Given the description of an element on the screen output the (x, y) to click on. 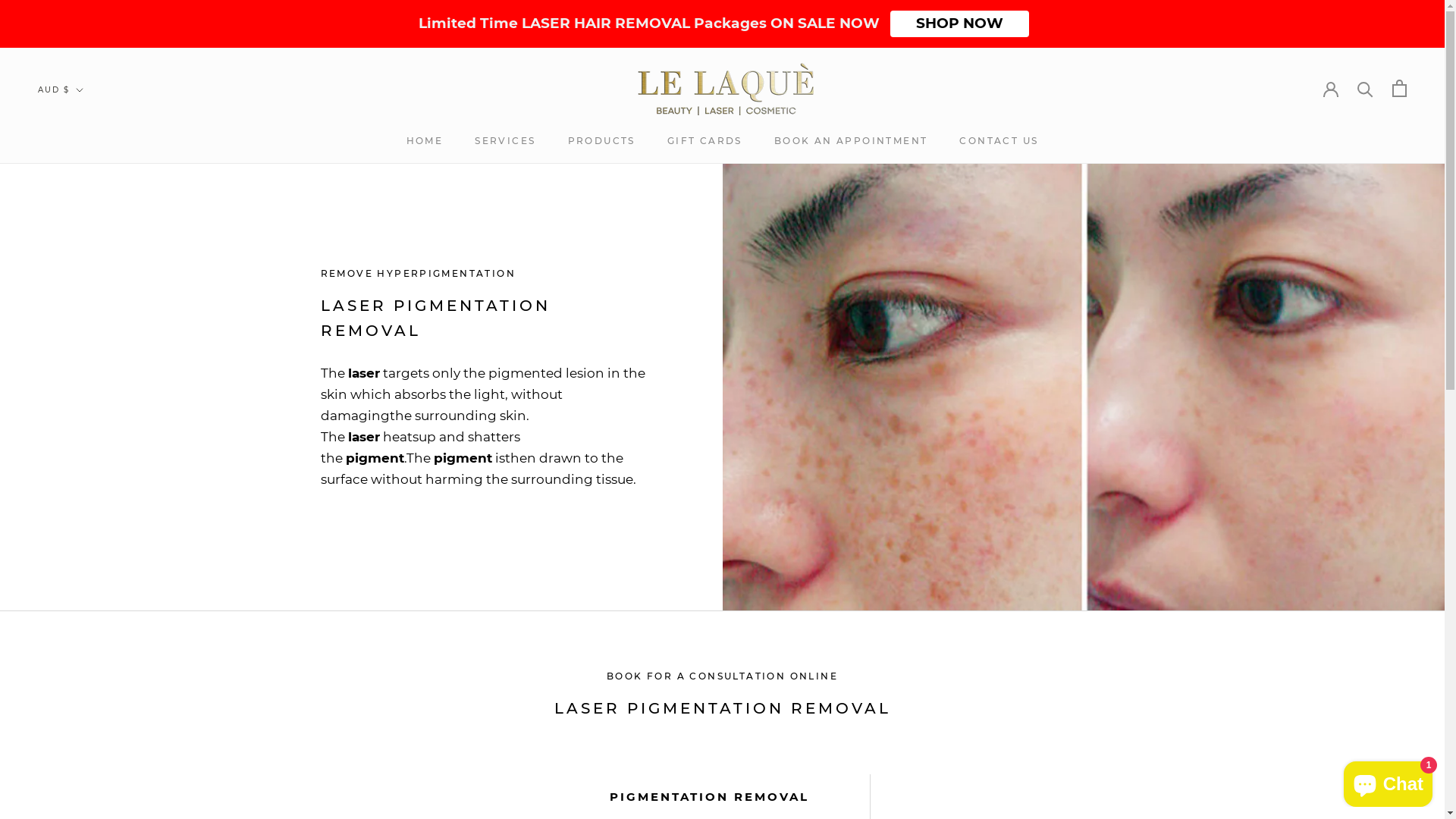
CAD Element type: text (86, 483)
BAM Element type: text (86, 283)
CNY Element type: text (86, 544)
DKK Element type: text (86, 644)
CHF Element type: text (86, 524)
BND Element type: text (86, 383)
ETB Element type: text (86, 725)
CZK Element type: text (86, 604)
AFN Element type: text (86, 142)
CVE Element type: text (86, 584)
BDT Element type: text (86, 323)
DJF Element type: text (86, 625)
BBD Element type: text (86, 303)
BZD Element type: text (86, 464)
AZN Element type: text (86, 263)
BSD Element type: text (86, 424)
BOOK AN APPOINTMENT
BOOK AN APPOINTMENT Element type: text (851, 140)
DOP Element type: text (86, 665)
Shopify online store chat Element type: hover (1388, 780)
ANG Element type: text (86, 202)
BOB Element type: text (86, 403)
AUD $ Element type: text (60, 90)
EGP Element type: text (86, 705)
AWG Element type: text (86, 242)
ALL Element type: text (86, 162)
FKP Element type: text (86, 785)
BIF Element type: text (86, 363)
AED Element type: text (86, 122)
CONTACT US
CONTACT US Element type: text (998, 140)
HOME
HOME Element type: text (424, 140)
FJD Element type: text (86, 765)
EUR Element type: text (86, 745)
SERVICES Element type: text (504, 140)
AUD Element type: text (86, 223)
DZD Element type: text (86, 684)
GIFT CARDS
GIFT CARDS Element type: text (704, 140)
CRC Element type: text (86, 564)
BGN Element type: text (86, 343)
BWP Element type: text (86, 443)
CDF Element type: text (86, 504)
AMD Element type: text (86, 182)
PRODUCTS Element type: text (600, 140)
GBP Element type: text (86, 805)
